Given the description of an element on the screen output the (x, y) to click on. 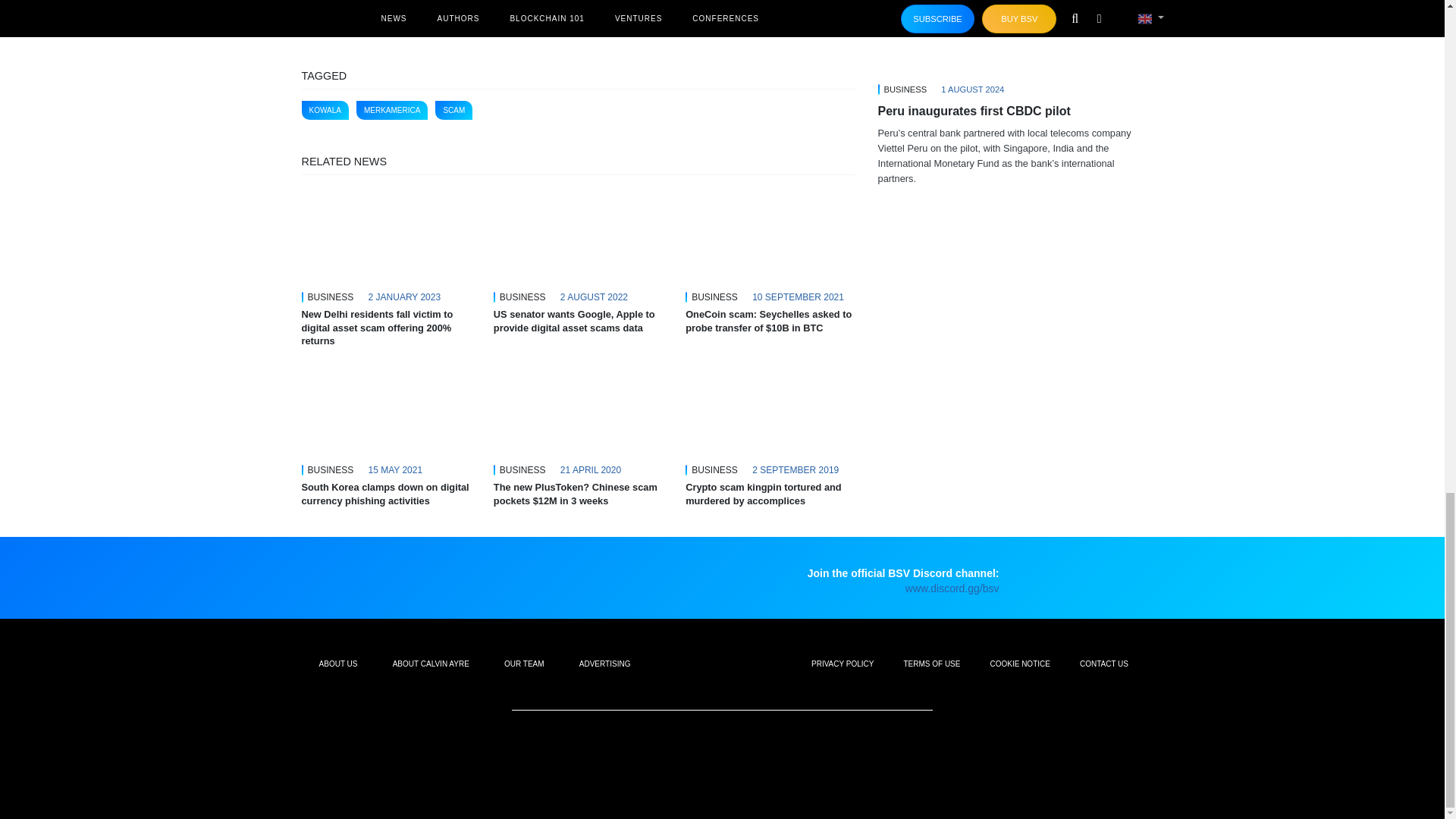
Peru inaugurates first CBDC pilot (1009, 34)
